Given the description of an element on the screen output the (x, y) to click on. 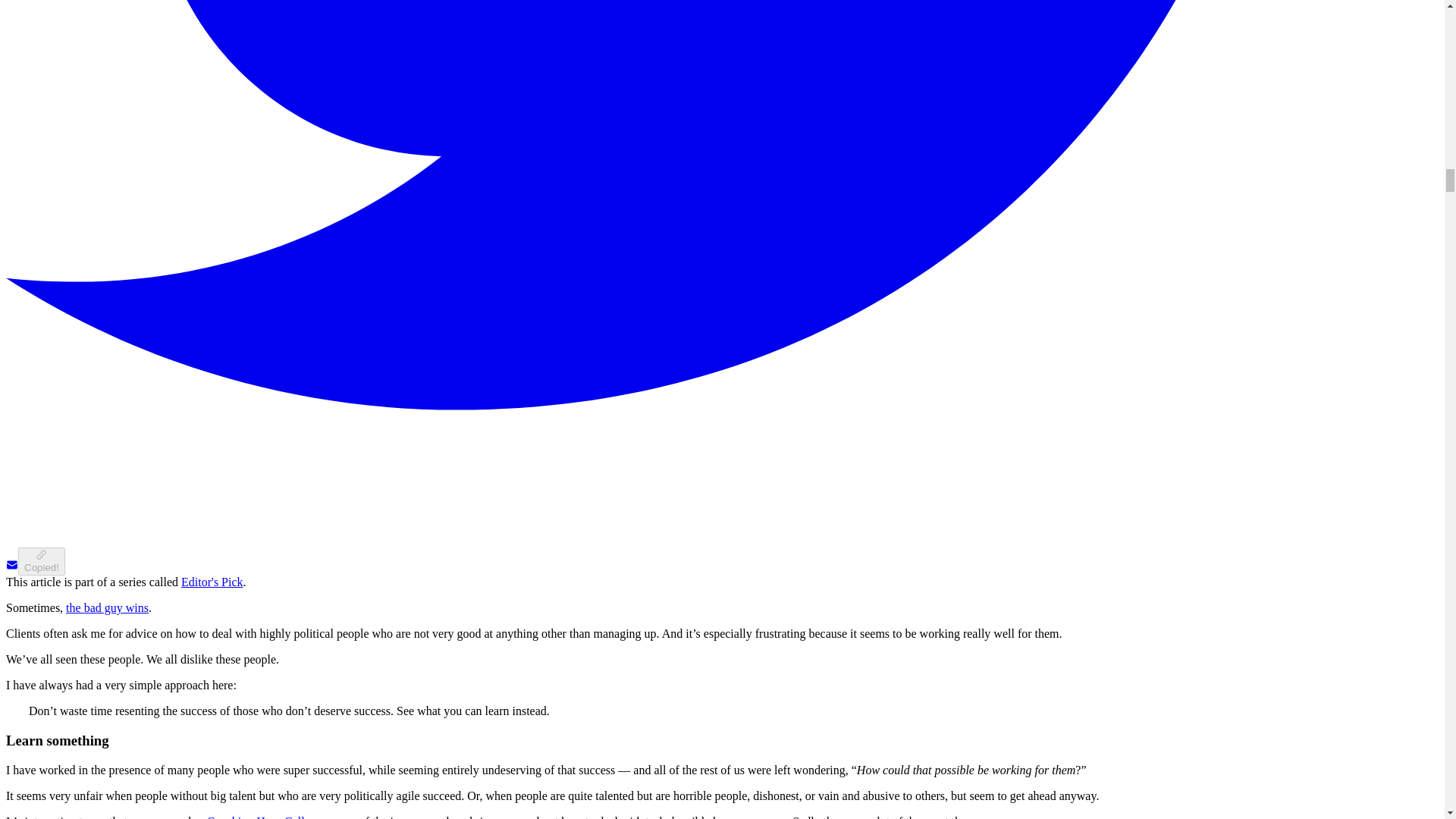
Coaching Hour Calls (257, 816)
Editor's Pick (211, 581)
Copied! (41, 561)
the bad guy wins (106, 607)
